Given the description of an element on the screen output the (x, y) to click on. 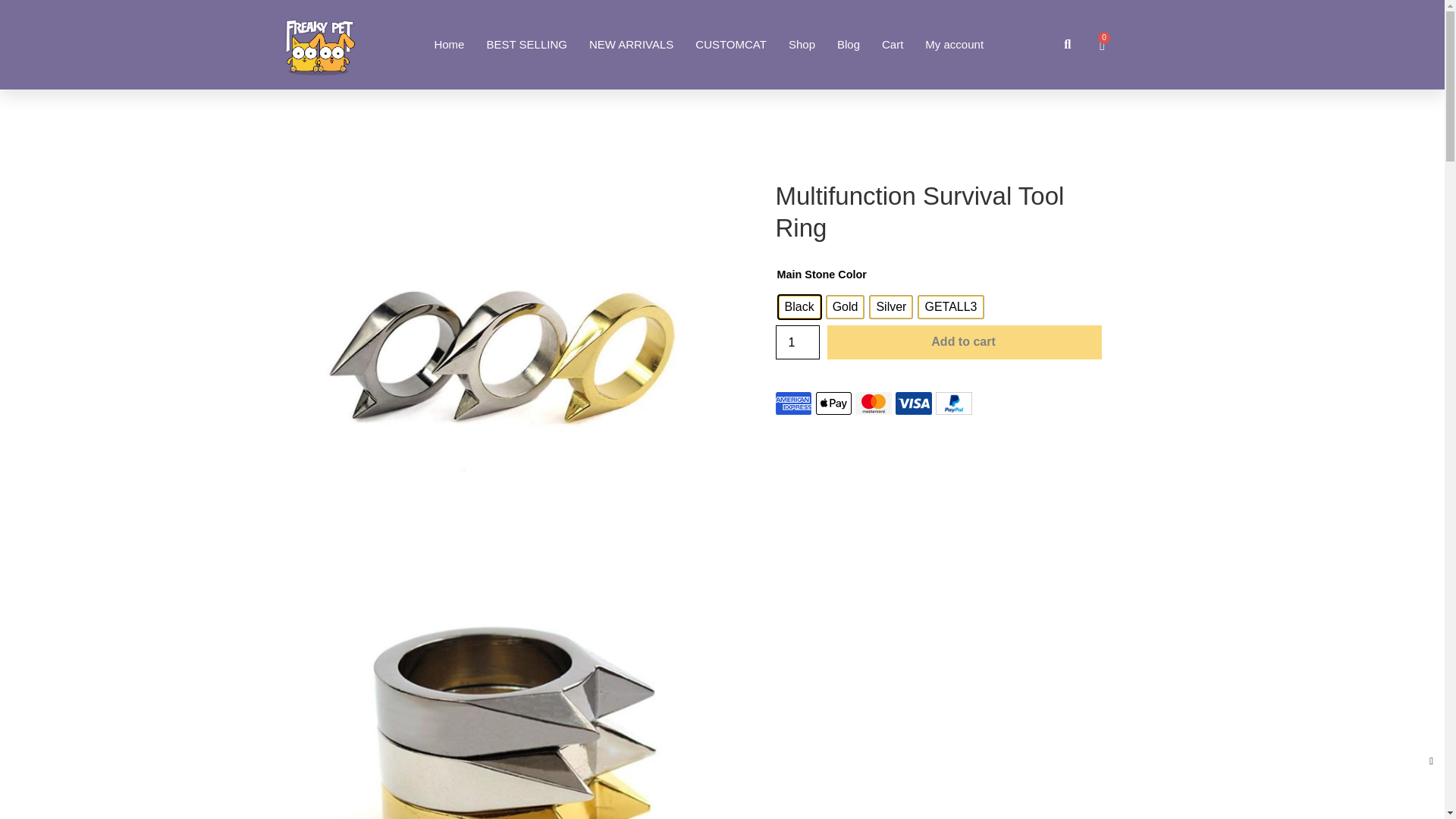
CUSTOMCAT (731, 44)
Silver (890, 306)
Home (448, 44)
NEW ARRIVALS (630, 44)
BEST SELLING (526, 44)
Gold (845, 306)
Black (798, 306)
My account (954, 44)
Shop (802, 44)
GETALL3 (950, 306)
